Given the description of an element on the screen output the (x, y) to click on. 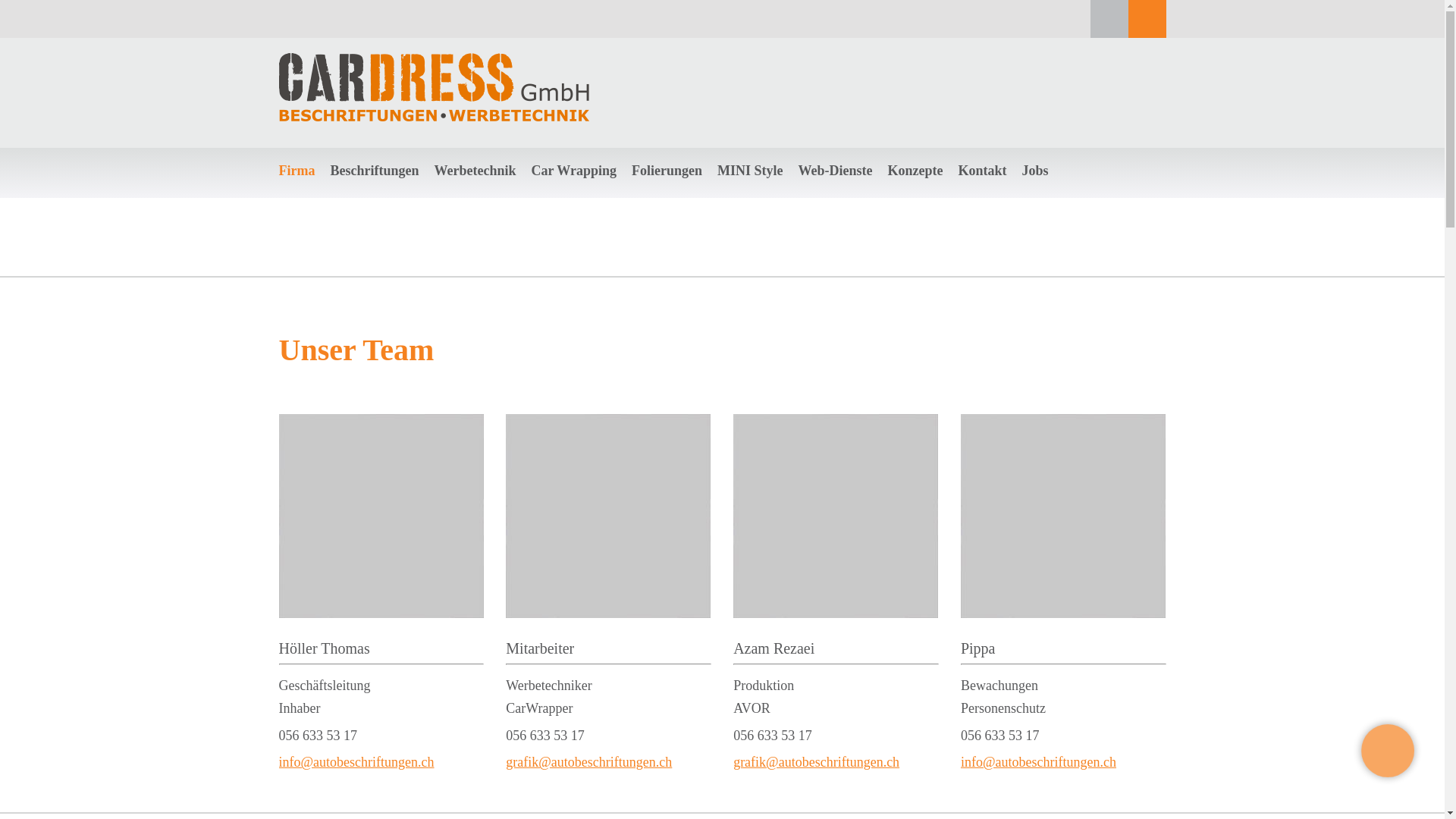
Kontakt Element type: text (975, 191)
Schaufensterbeschriftung Element type: text (383, 191)
Flottenbeschriftungen Element type: text (376, 191)
Home Element type: text (33, 234)
grafik@autobeschriftungen.ch Element type: text (588, 761)
Anfahrt Element type: text (974, 191)
grafik@autobeschriftungen.ch Element type: text (816, 761)
Glasdekor Sichtschutz Element type: text (377, 191)
Modelle Element type: text (347, 191)
Car Wrapping Element type: text (573, 170)
info@autobeschriftungen.ch Element type: text (1038, 761)
News Element type: text (291, 191)
E-mail senden Element type: text (988, 191)
Fahrzeugbeschriftungen Element type: text (380, 191)
Messestand Element type: text (458, 191)
Werbe-+ Firmentafeln Element type: text (376, 191)
Firma Element type: text (66, 234)
Banner + Gitternetze Element type: text (374, 191)
MINI Style Element type: text (750, 170)
Buswerbungen Element type: text (361, 191)
Kontakt Element type: text (982, 170)
Web-Dienste Element type: text (835, 170)
Folierungen Element type: text (666, 170)
Kundenstopper Element type: text (465, 191)
Disclaimer Element type: text (302, 191)
Firma Element type: text (297, 170)
Fahnen Element type: text (448, 191)
Unser Team Element type: text (304, 191)
3D Doming Element type: text (458, 191)
Beschriftungen Element type: text (373, 170)
Werbetechnik Element type: text (474, 170)
Fassaden Element type: text (348, 191)
Jobs Element type: text (1035, 170)
Magnettafeln Element type: text (357, 191)
info@autobeschriftungen.ch Element type: text (356, 761)
Display Element type: text (450, 191)
Leuchtreklamen Element type: text (363, 191)
Firma Element type: text (291, 191)
Konzepte Element type: text (915, 170)
Impressum Element type: text (302, 191)
